Given the description of an element on the screen output the (x, y) to click on. 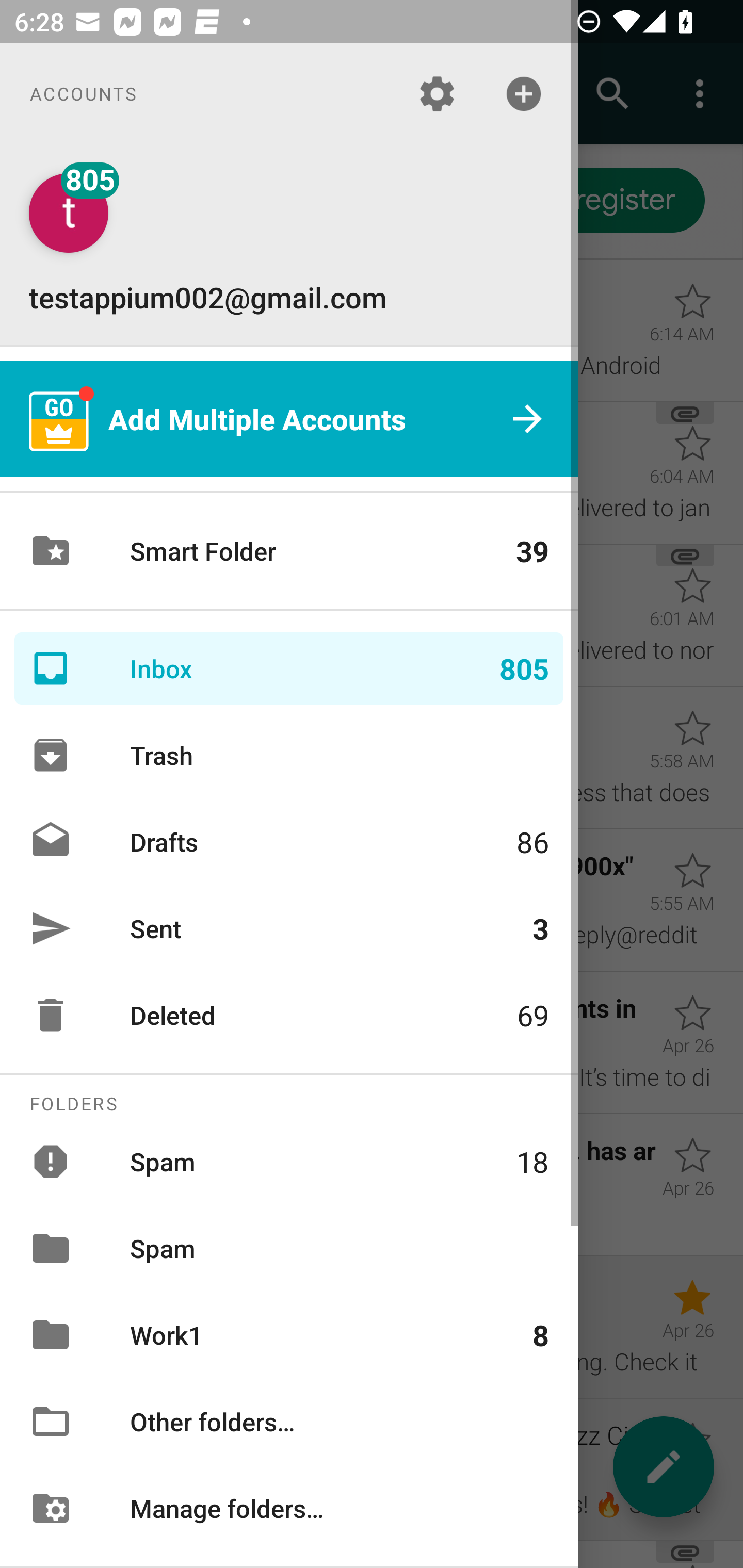
testappium002@gmail.com (289, 244)
Add Multiple Accounts (289, 418)
Smart Folder 39 (289, 551)
Inbox 805 (289, 668)
Trash (289, 754)
Drafts 86 (289, 841)
Sent 3 (289, 928)
Deleted 69 (289, 1015)
Spam 18 (289, 1160)
Spam (289, 1248)
Work1 8 (289, 1335)
Other folders… (289, 1421)
Manage folders… (289, 1507)
